Given the description of an element on the screen output the (x, y) to click on. 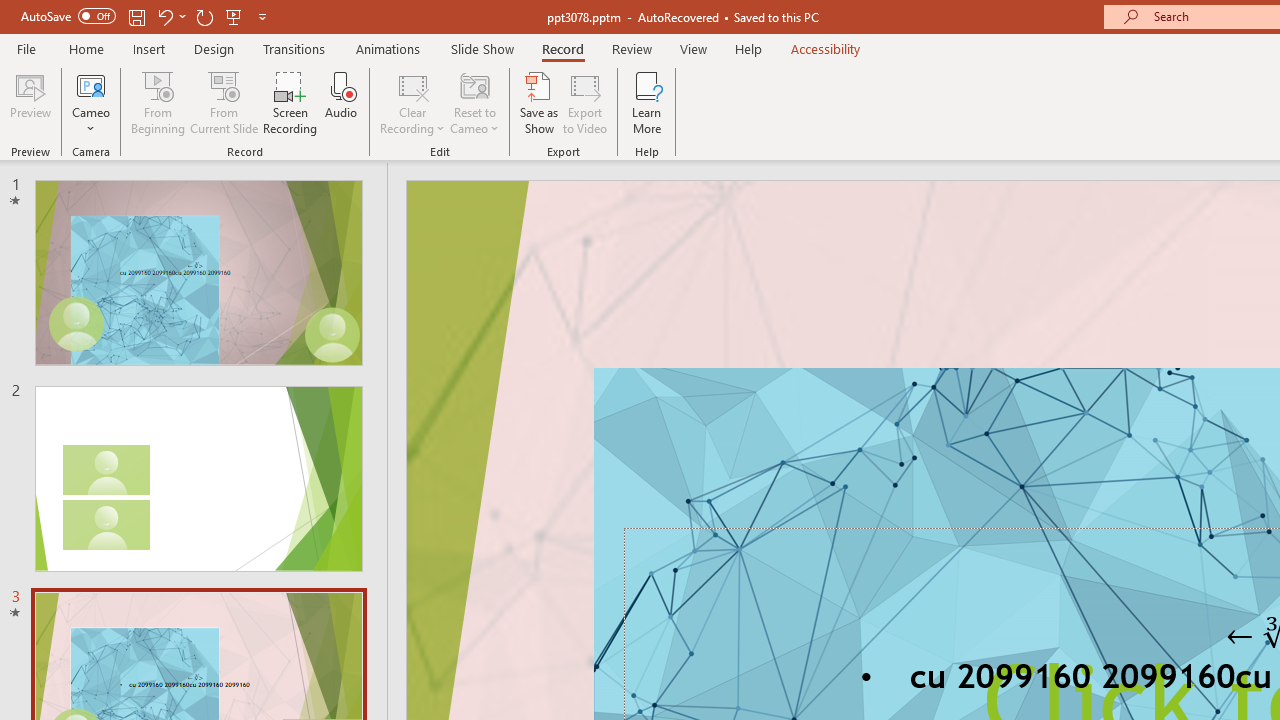
Learn More (646, 102)
Audio (341, 102)
Export to Video (585, 102)
